Given the description of an element on the screen output the (x, y) to click on. 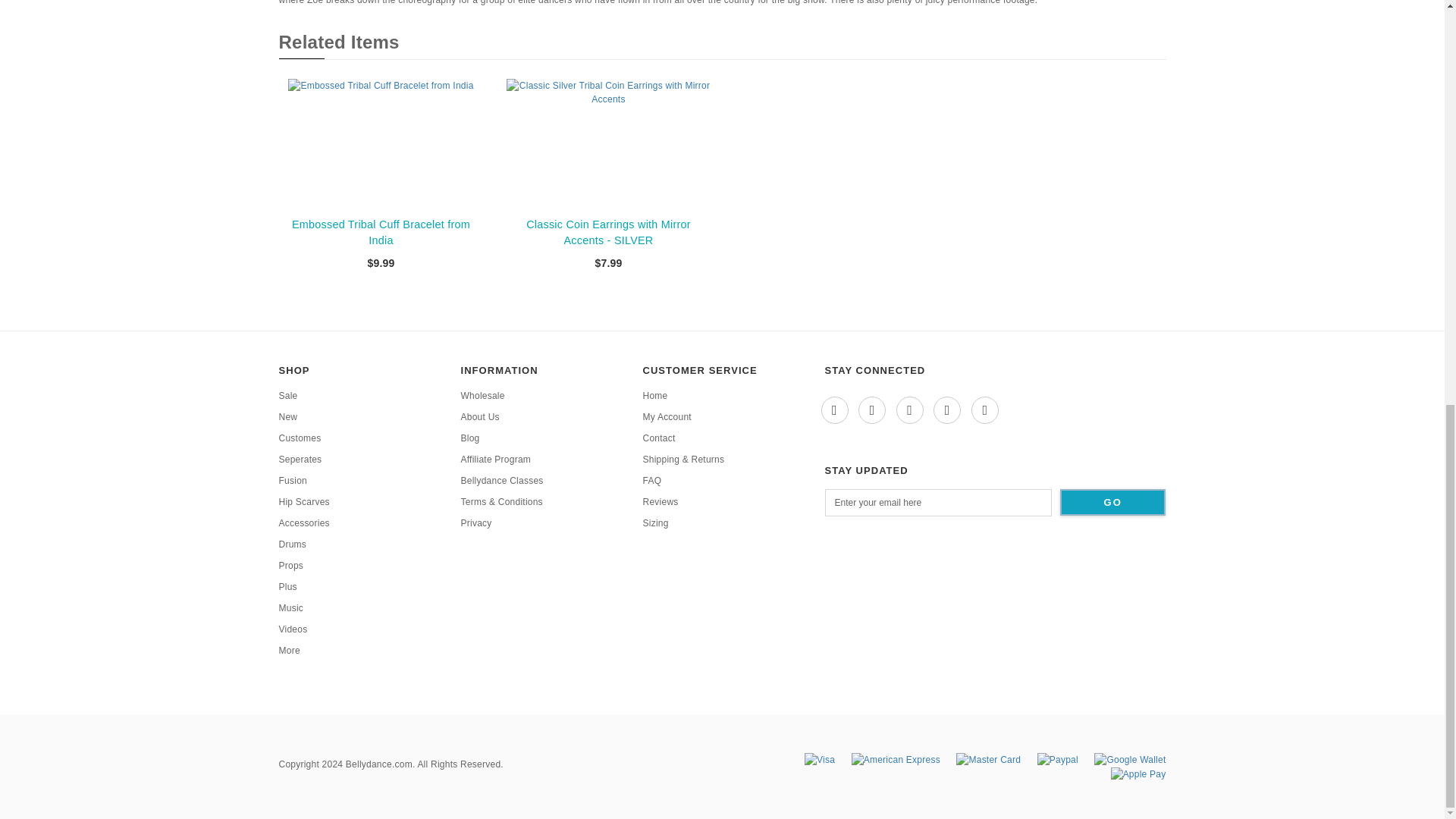
Visa (819, 758)
Paypal (1057, 758)
Google Wallet (1130, 758)
Apple Pay (1138, 773)
American Express (895, 758)
Master Card (988, 758)
